Given the description of an element on the screen output the (x, y) to click on. 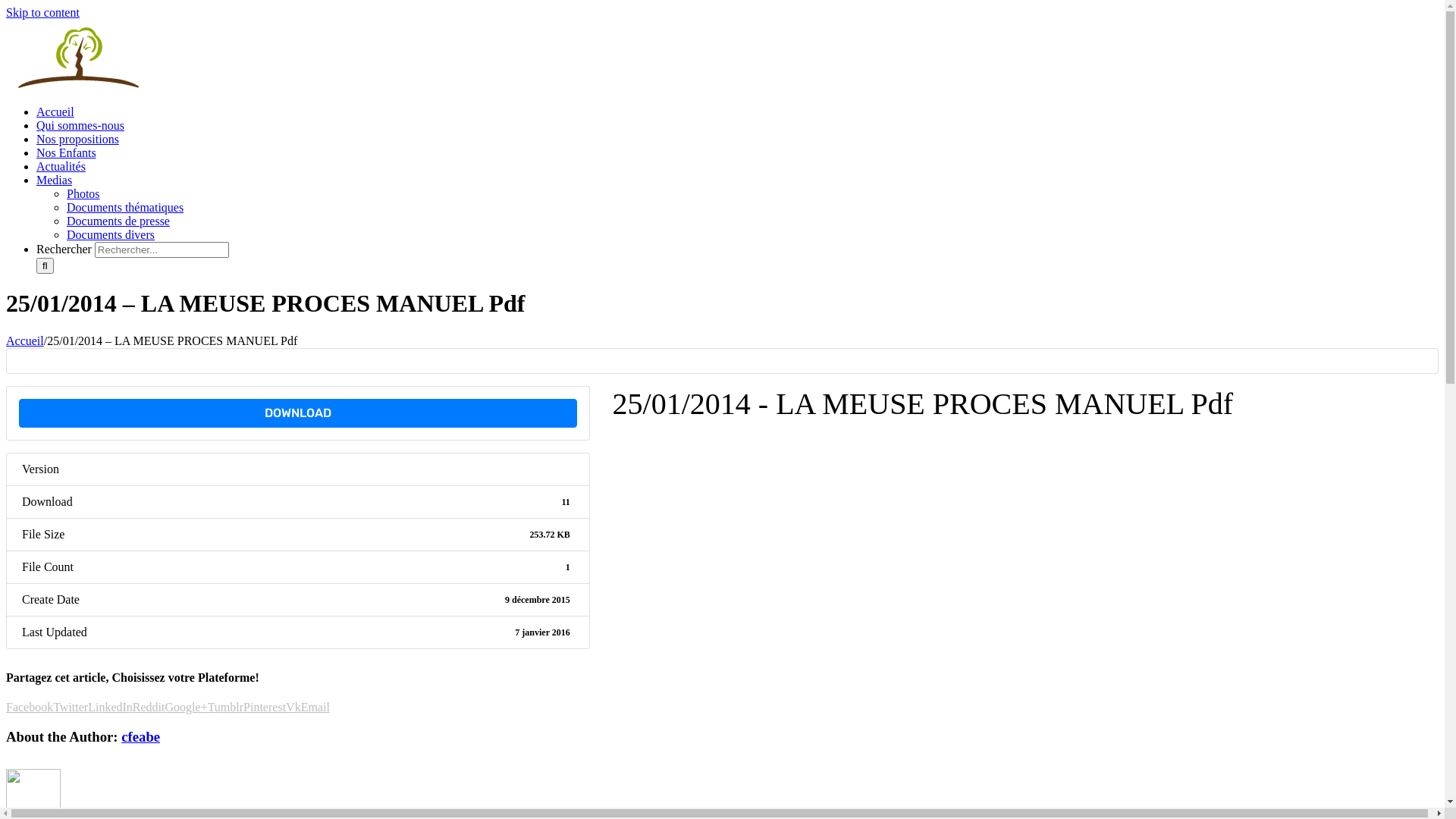
LinkedIn Element type: text (109, 706)
Nos Enfants Element type: text (66, 152)
Twitter Element type: text (70, 706)
Accueil Element type: text (24, 340)
Photos Element type: text (83, 193)
Documents divers Element type: text (110, 234)
Skip to content Element type: text (42, 12)
cfeabe Element type: text (140, 736)
Qui sommes-nous Element type: text (80, 125)
Pinterest Element type: text (264, 706)
Reddit Element type: text (148, 706)
Accueil Element type: text (55, 111)
Vk Element type: text (293, 706)
Nos propositions Element type: text (77, 138)
DOWNLOAD Element type: text (297, 412)
Documents de presse Element type: text (117, 220)
Google+ Element type: text (186, 706)
Tumblr Element type: text (225, 706)
Facebook Element type: text (29, 706)
Medias Element type: text (54, 179)
Email Element type: text (315, 706)
